Given the description of an element on the screen output the (x, y) to click on. 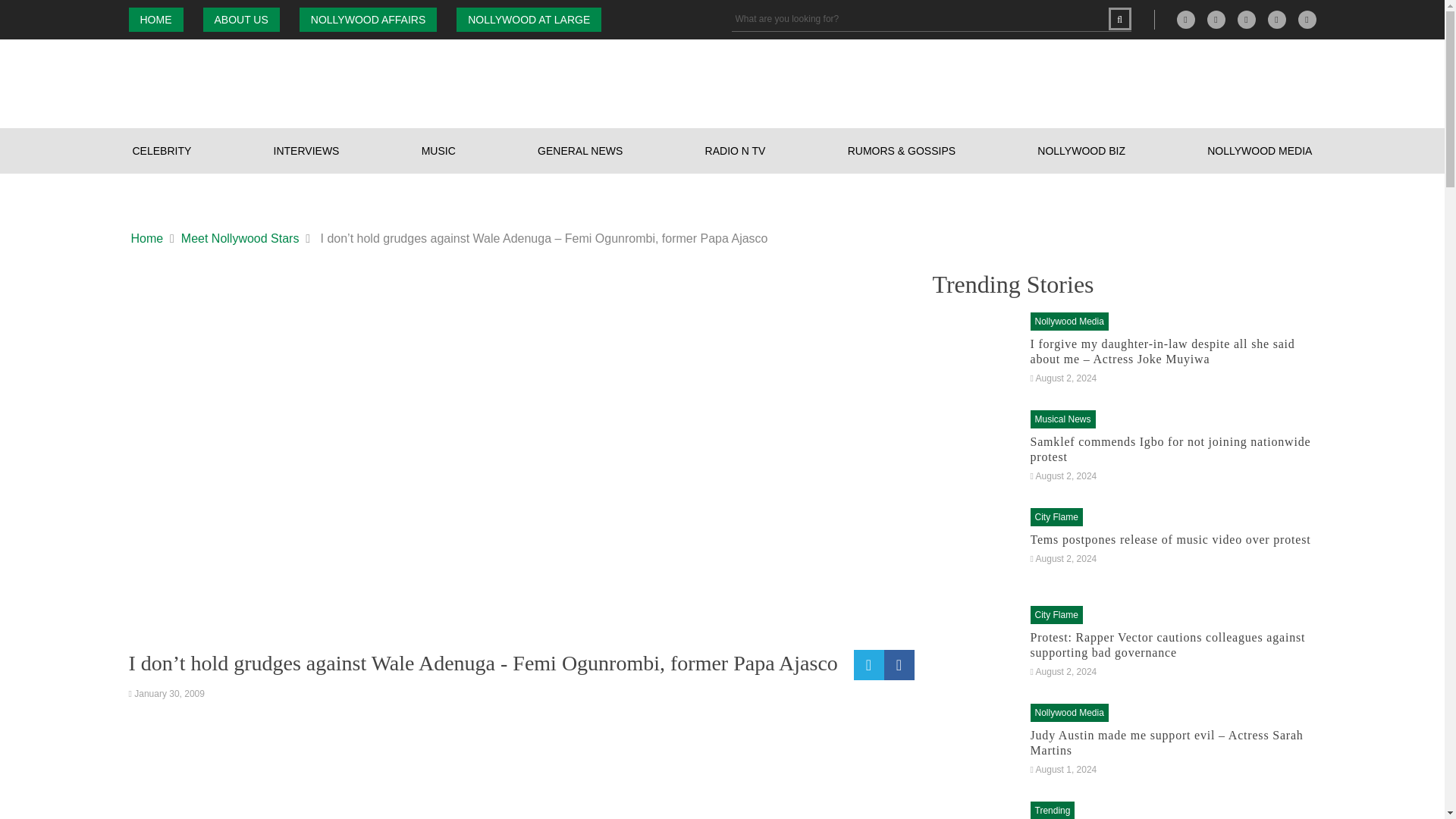
INTERVIEWS (306, 150)
Search (1119, 18)
Meet Nollywood Stars (239, 239)
HOME (156, 19)
Facebook (1216, 19)
ABOUT US (241, 19)
Youtube (1307, 19)
MUSIC (438, 150)
RADIO N TV (735, 150)
Twitter (1276, 19)
Home (147, 239)
NOLLYWOOD AFFAIRS (367, 19)
NOLLYWOOD AT LARGE (529, 19)
CELEBRITY (162, 150)
instagram (1246, 19)
